Given the description of an element on the screen output the (x, y) to click on. 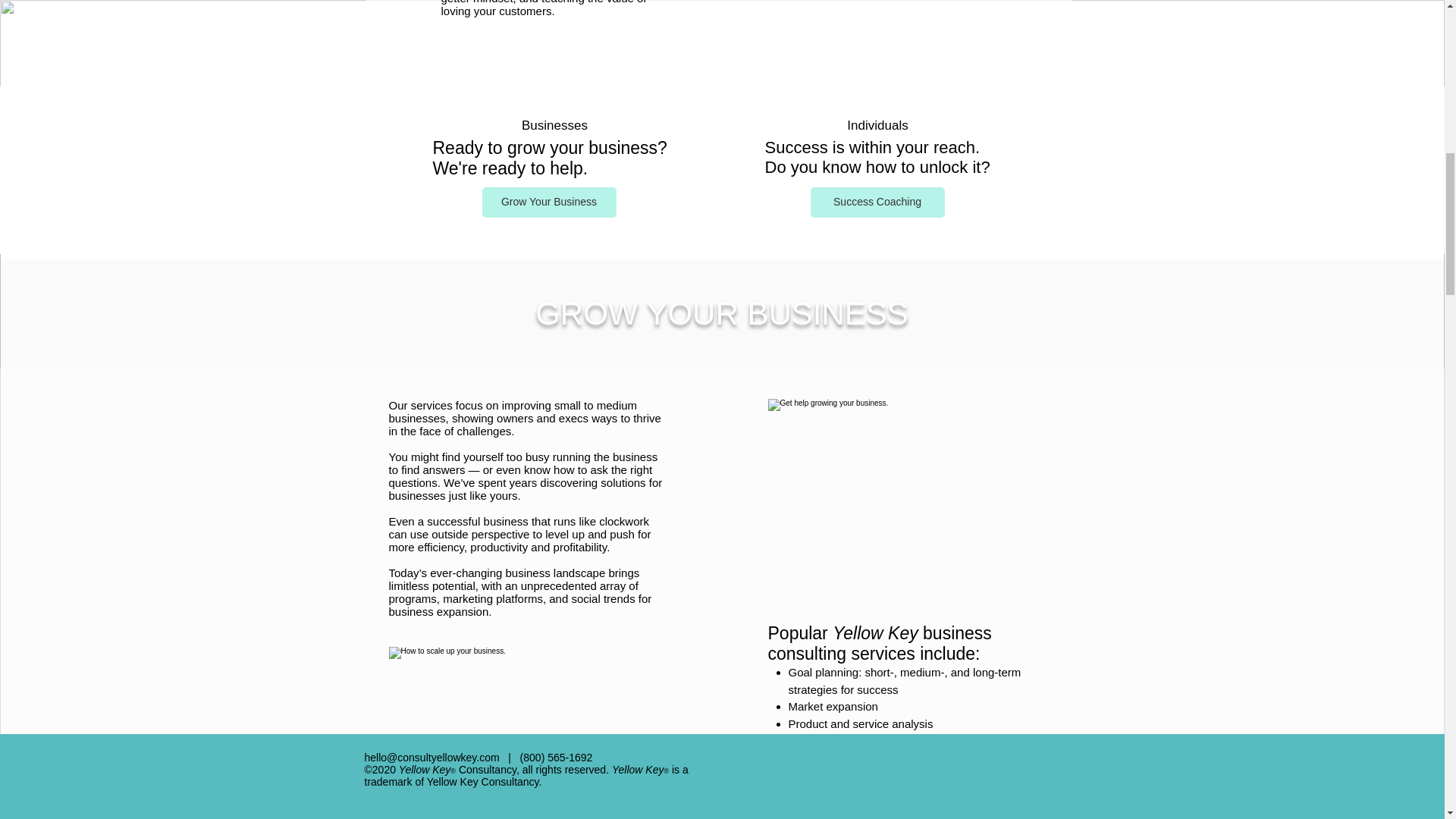
Success is within your reach. Do you know how to unlock it? (877, 157)
Individuals (877, 124)
Businesses (554, 124)
Ready to grow your business? We're ready to help. (549, 158)
Grow Your Business (548, 202)
Success Coaching (876, 202)
